Given the description of an element on the screen output the (x, y) to click on. 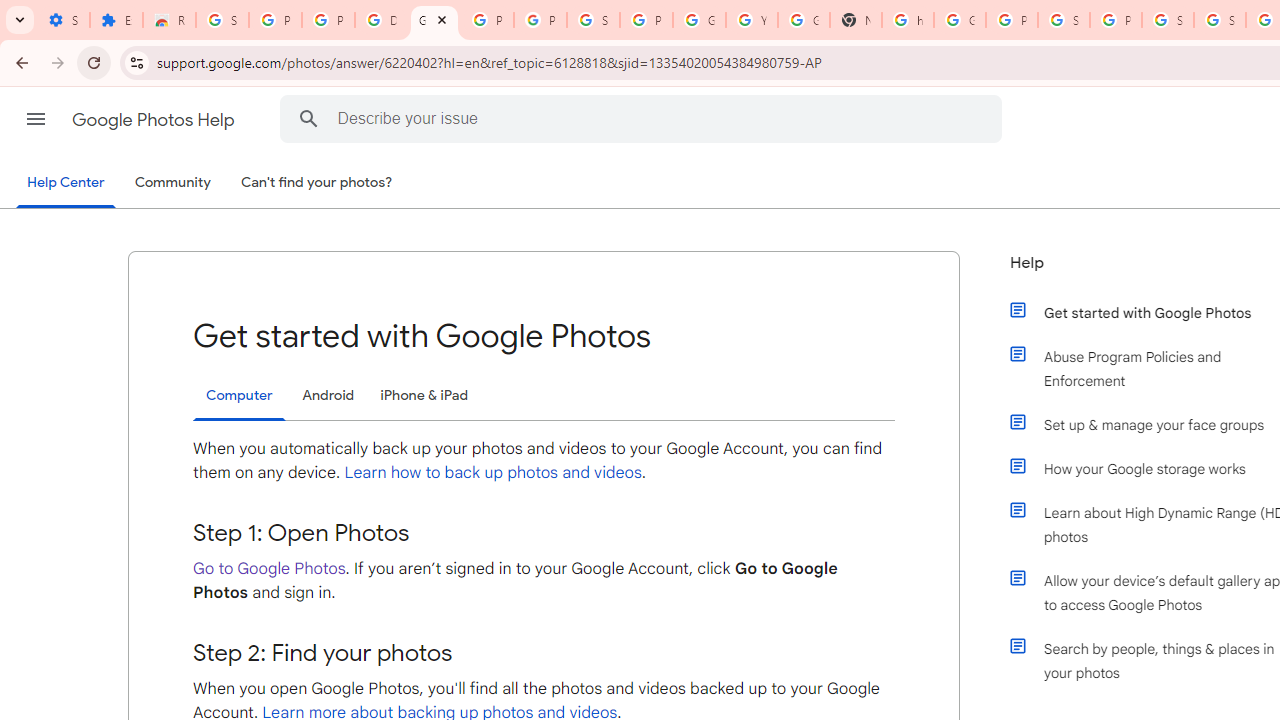
https://scholar.google.com/ (907, 20)
Learn how to back up photos and videos (493, 472)
Sign in - Google Accounts (1167, 20)
Community (171, 183)
Describe your issue (644, 118)
Help Center (65, 183)
